Given the description of an element on the screen output the (x, y) to click on. 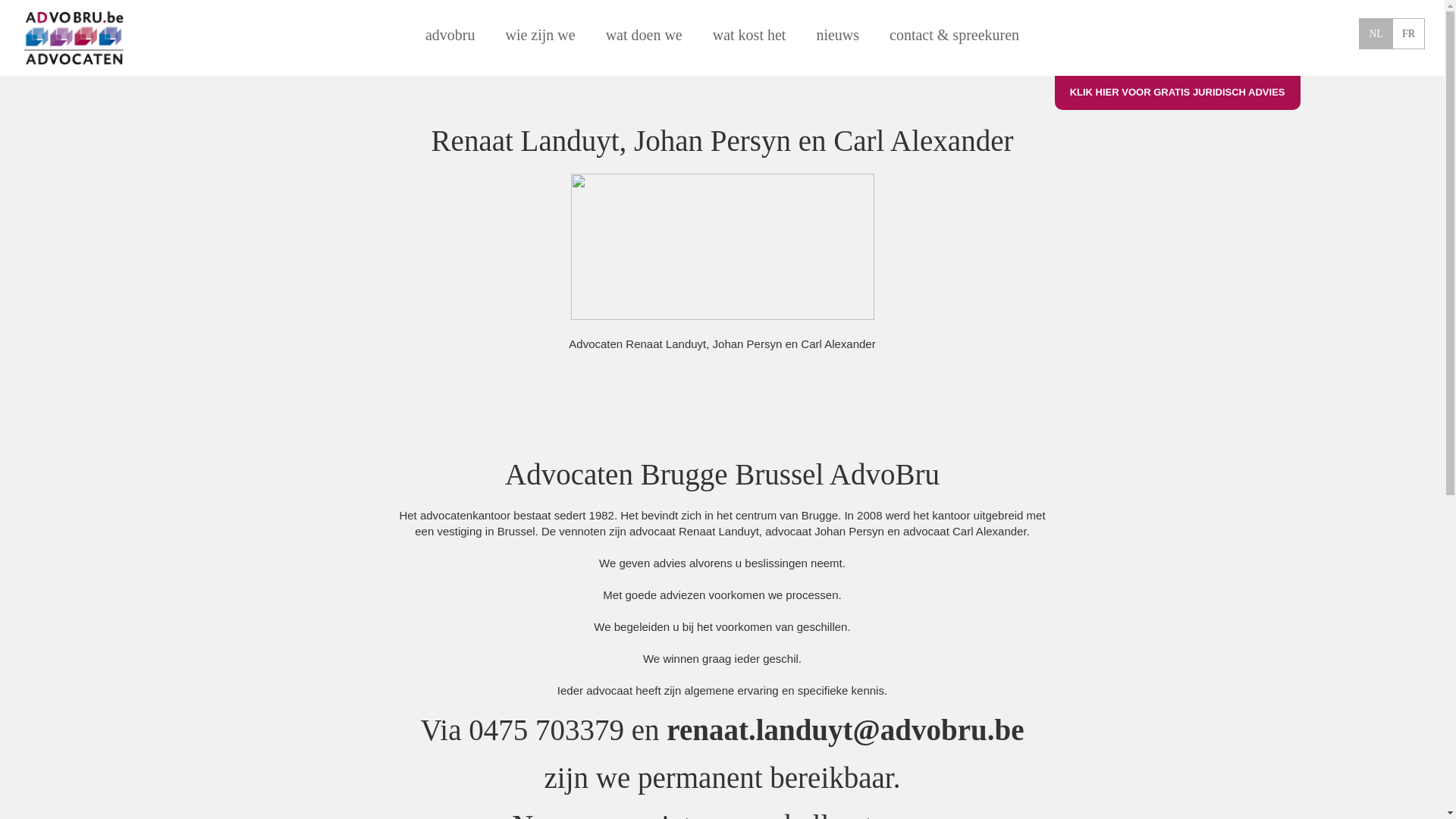
wie zijn we Element type: text (539, 34)
KLIK HIER VOOR GRATIS JURIDISCH ADVIES Element type: text (1177, 92)
0475 703379 Element type: text (546, 729)
wat kost het Element type: text (749, 34)
advobru Element type: text (450, 34)
nieuws Element type: text (837, 34)
FR Element type: text (1408, 33)
NL Element type: text (1375, 33)
contact & spreekuren Element type: text (954, 34)
wat doen we Element type: text (643, 34)
